Given the description of an element on the screen output the (x, y) to click on. 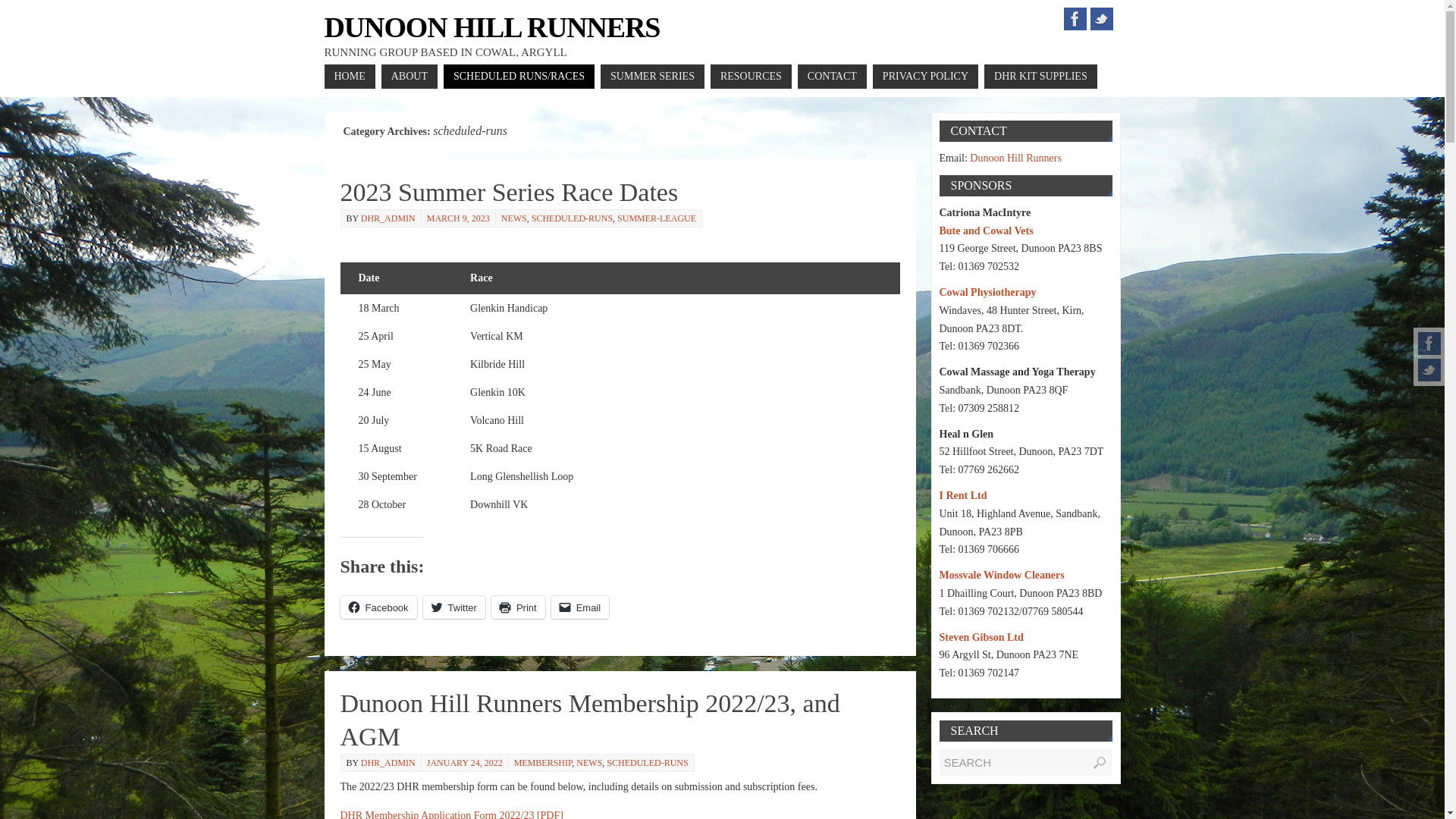
2023 Summer Series Race Dates (508, 192)
NEWS (589, 762)
OK (1099, 762)
Dunoon Hill Runners (492, 27)
RESOURCES (751, 76)
Facebook (1074, 18)
PRIVACY POLICY (925, 76)
SUMMER SERIES (651, 76)
MARCH 9, 2023 (457, 217)
ABOUT (409, 76)
HOME (349, 76)
Facebook (1429, 343)
JANUARY 24, 2022 (464, 762)
DHR KIT SUPPLIES (1040, 76)
Twitter (1101, 18)
